Given the description of an element on the screen output the (x, y) to click on. 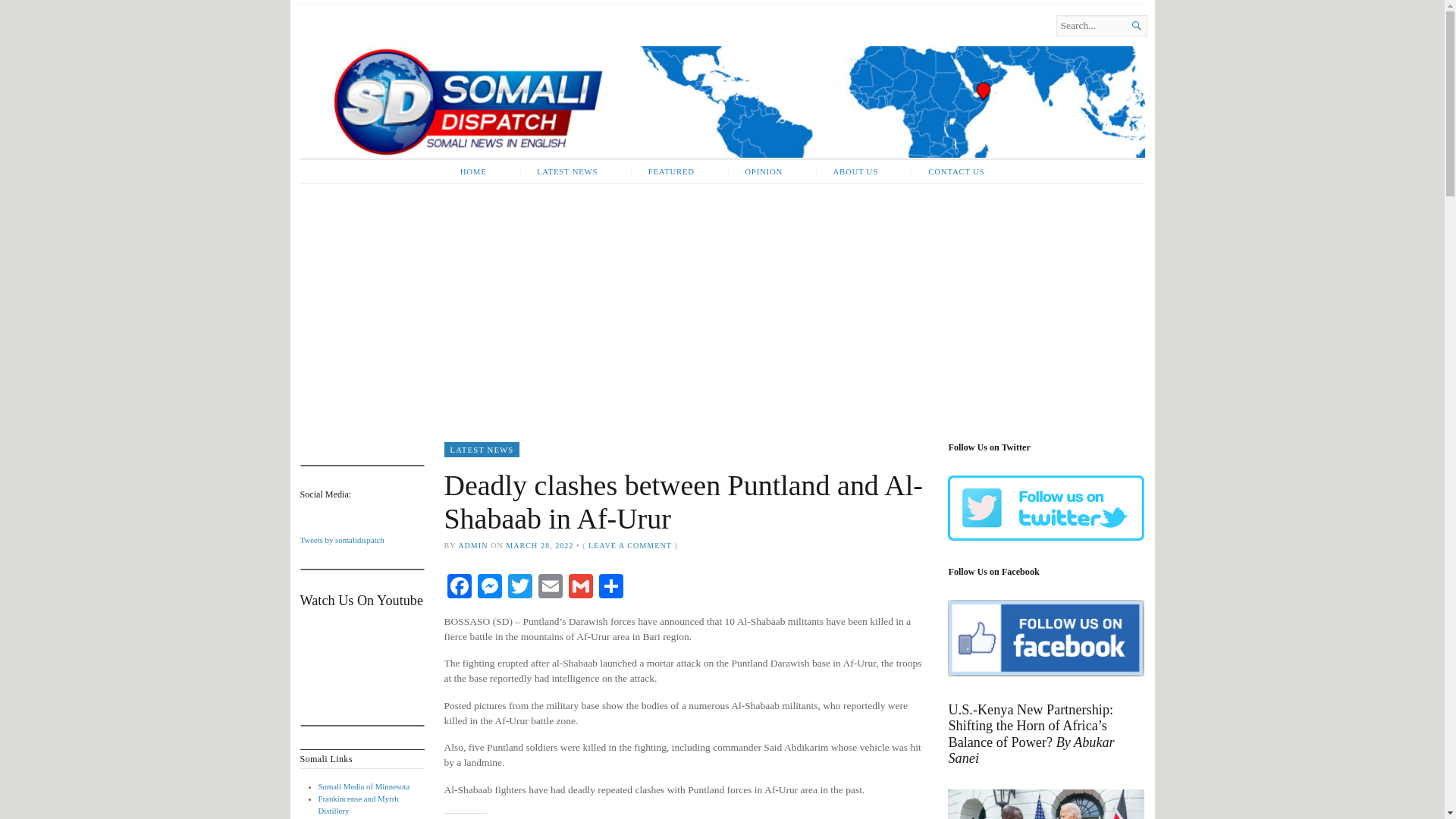
CONTACT US (946, 171)
Somali Dispatch (721, 101)
1:25 pm (539, 545)
Facebook (459, 587)
LATEST NEWS (481, 449)
Somali Dispatch (463, 44)
LATEST NEWS (557, 171)
Tweets by somalidispatch (341, 539)
Email (550, 587)
